Given the description of an element on the screen output the (x, y) to click on. 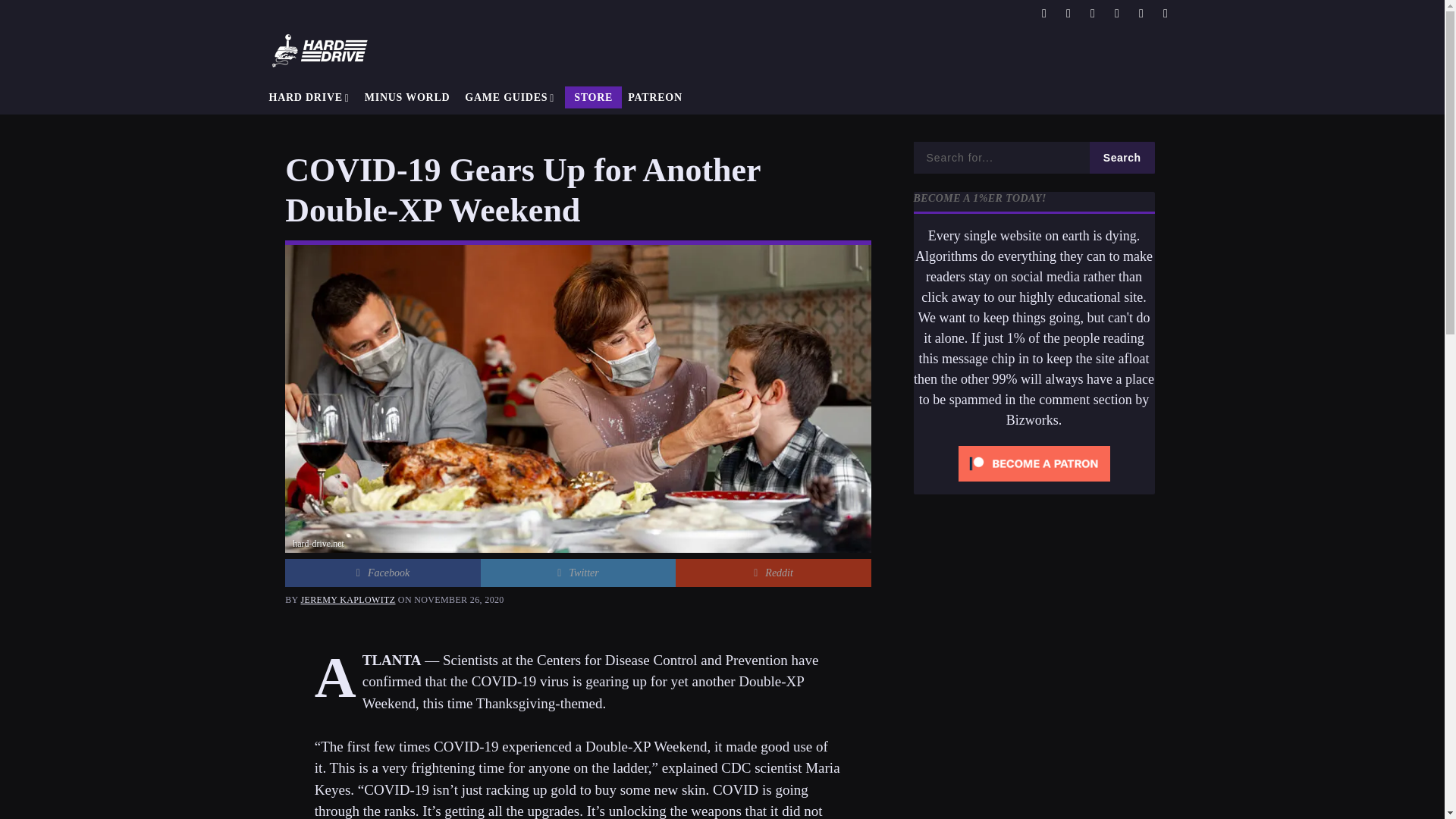
GAME GUIDES (509, 97)
Search (1000, 157)
Posts by Jeremy Kaplowitz (348, 599)
STORE (592, 97)
Facebook (382, 572)
Search (1121, 157)
MINUS WORLD (407, 97)
HARD DRIVE (308, 97)
Twitter (578, 572)
Search (1121, 157)
